Given the description of an element on the screen output the (x, y) to click on. 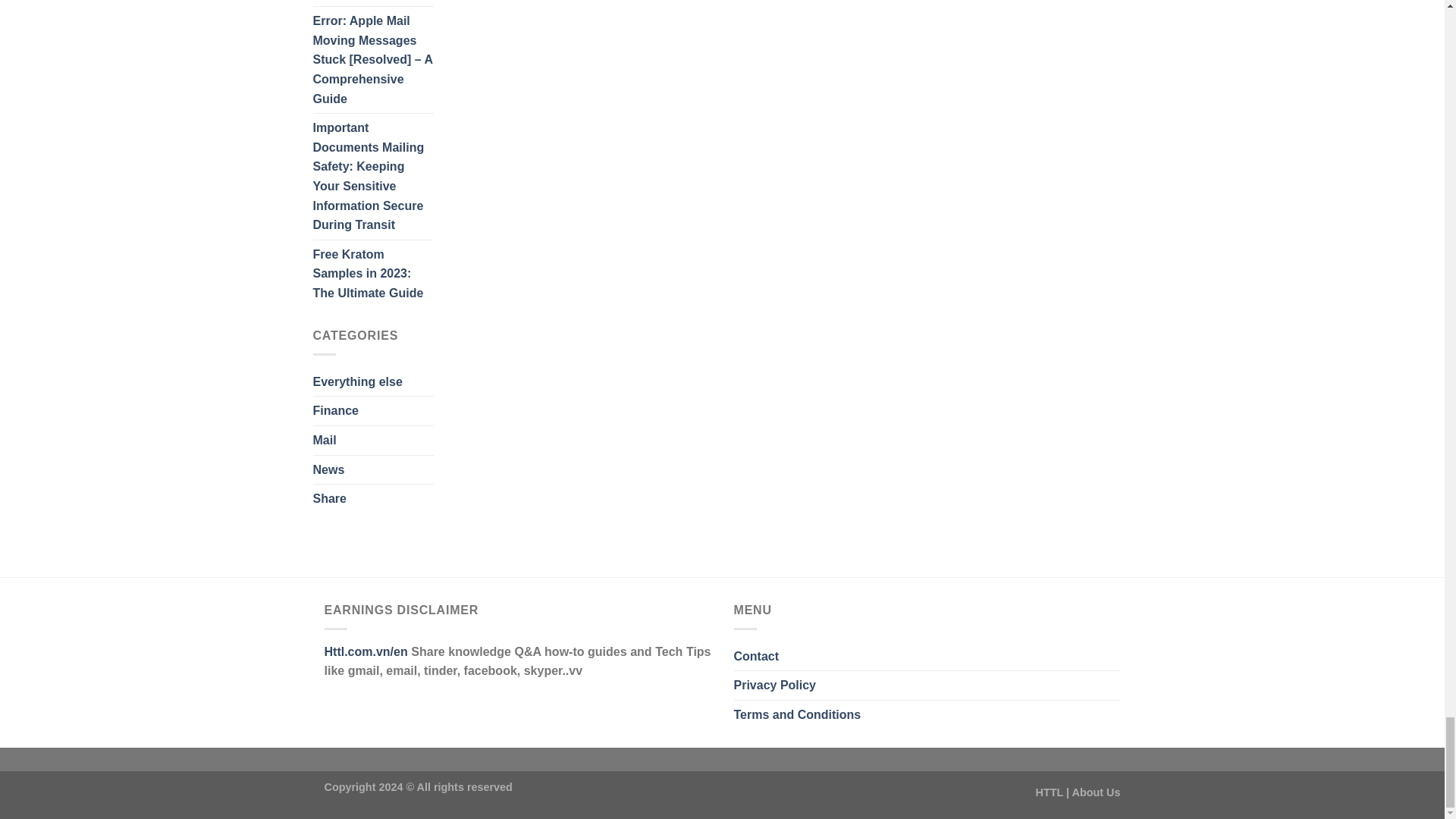
Terms and Conditions (797, 715)
Privacy Policy (774, 685)
Free Kratom Samples in 2023: The Ultimate Guide (372, 273)
HTTL (1049, 792)
How To Create Your Google Account Without A Phone Number (372, 2)
News (328, 469)
About Us (1096, 792)
Everything else (357, 381)
Finance (335, 410)
